Given the description of an element on the screen output the (x, y) to click on. 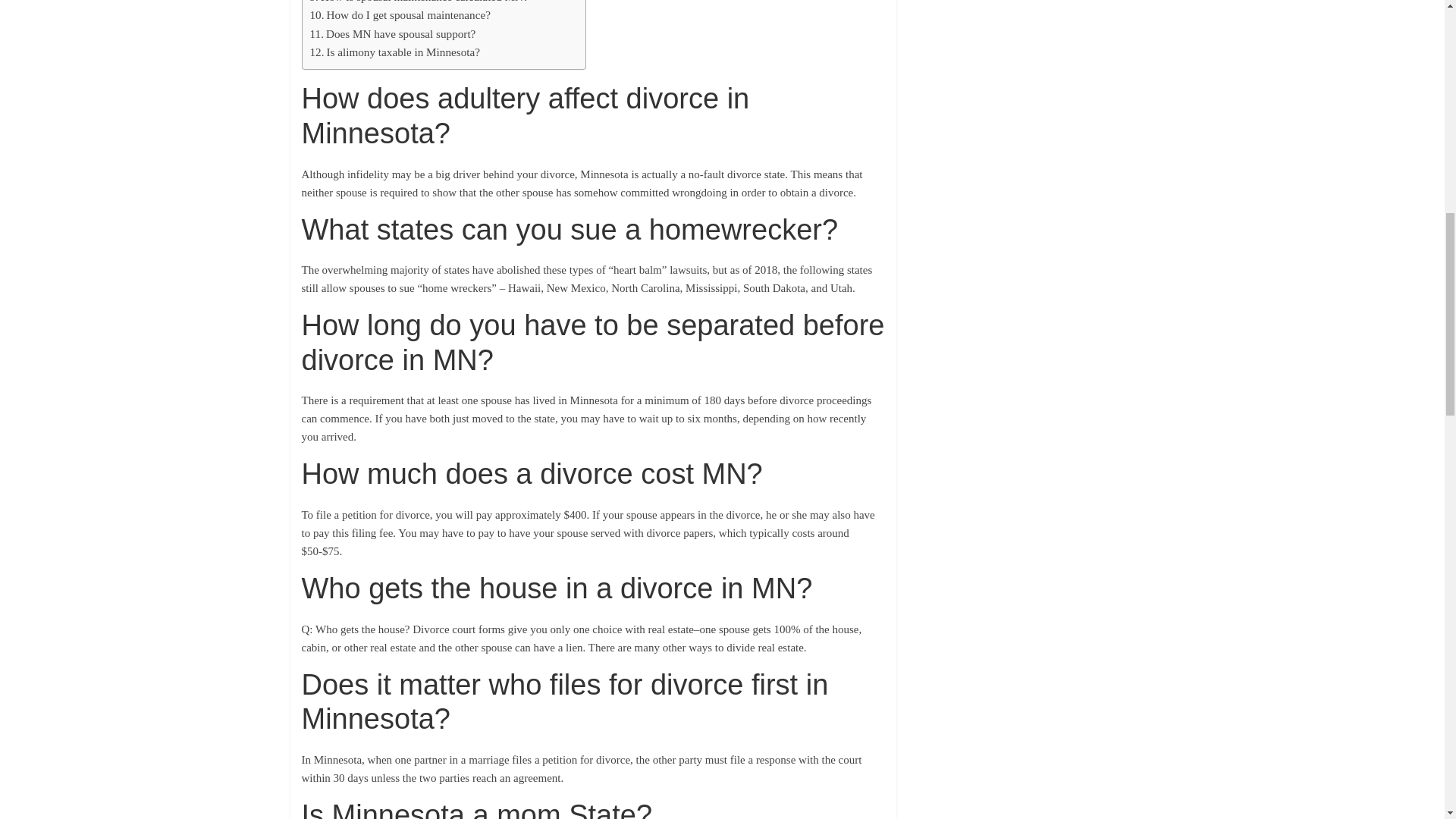
Is alimony taxable in Minnesota? (393, 52)
Does MN have spousal support? (392, 34)
How do I get spousal maintenance? (398, 14)
How is spousal maintenance calculated MN? (417, 2)
Is alimony taxable in Minnesota? (393, 52)
Does MN have spousal support? (392, 34)
How do I get spousal maintenance? (398, 14)
How is spousal maintenance calculated MN? (417, 2)
